Given the description of an element on the screen output the (x, y) to click on. 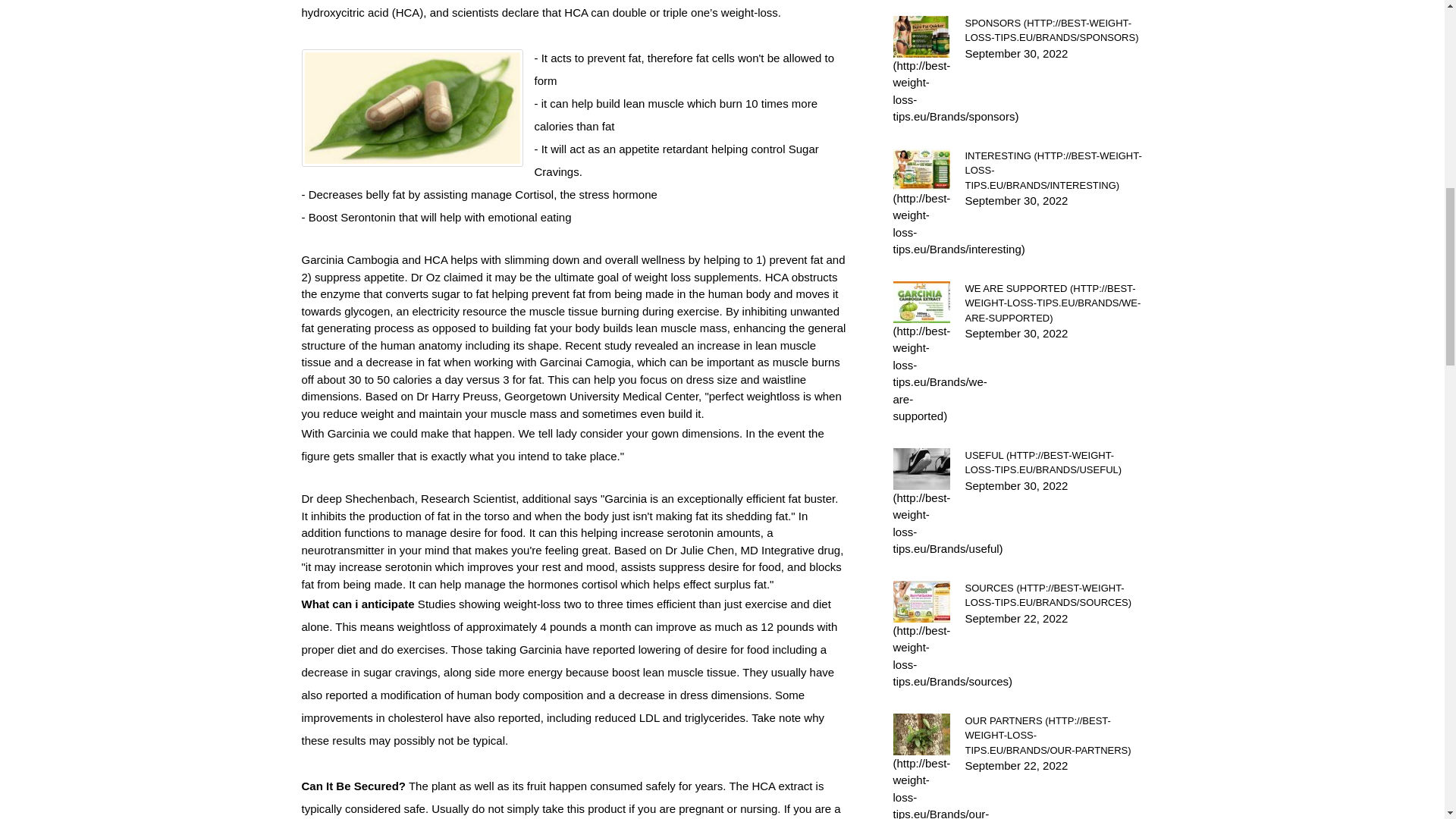
INTERESTING (1052, 170)
SPONSORS (1052, 30)
